Given the description of an element on the screen output the (x, y) to click on. 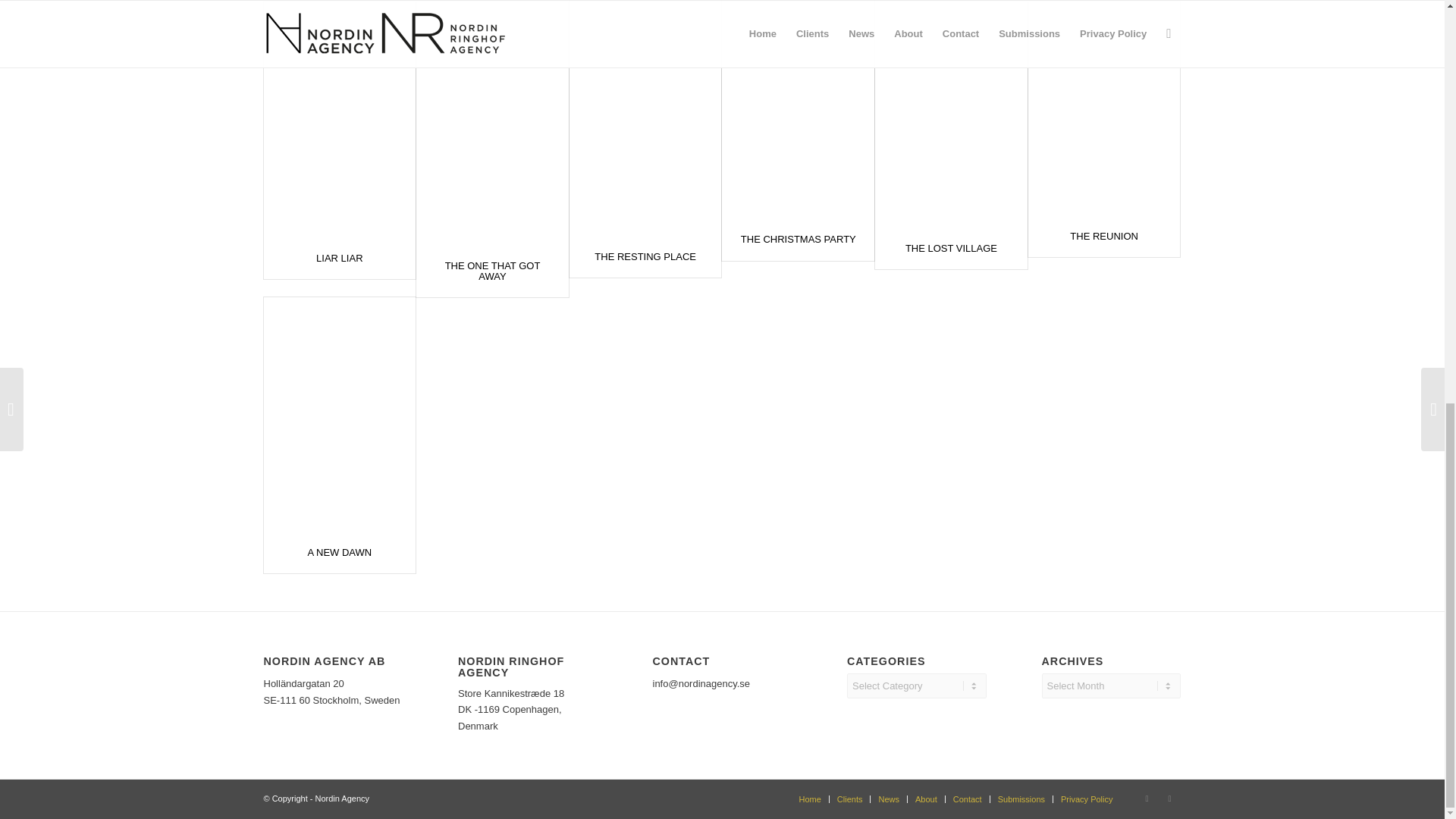
Clients (850, 798)
THE ONE THAT GOT AWAY (492, 270)
THE CHRISTMAS PARTY (798, 238)
THE RESTING PLACE (644, 256)
THE CHRISTMAS PARTY (798, 238)
LIAR LIAR (338, 257)
News (888, 798)
THE LOST VILLAGE (951, 247)
Home (810, 798)
THE ONE THAT GOT AWAY (492, 270)
THE RESTING PLACE (644, 256)
A NEW DAWN (339, 552)
LIAR LIAR (338, 257)
THE REUNION (1104, 235)
